Given the description of an element on the screen output the (x, y) to click on. 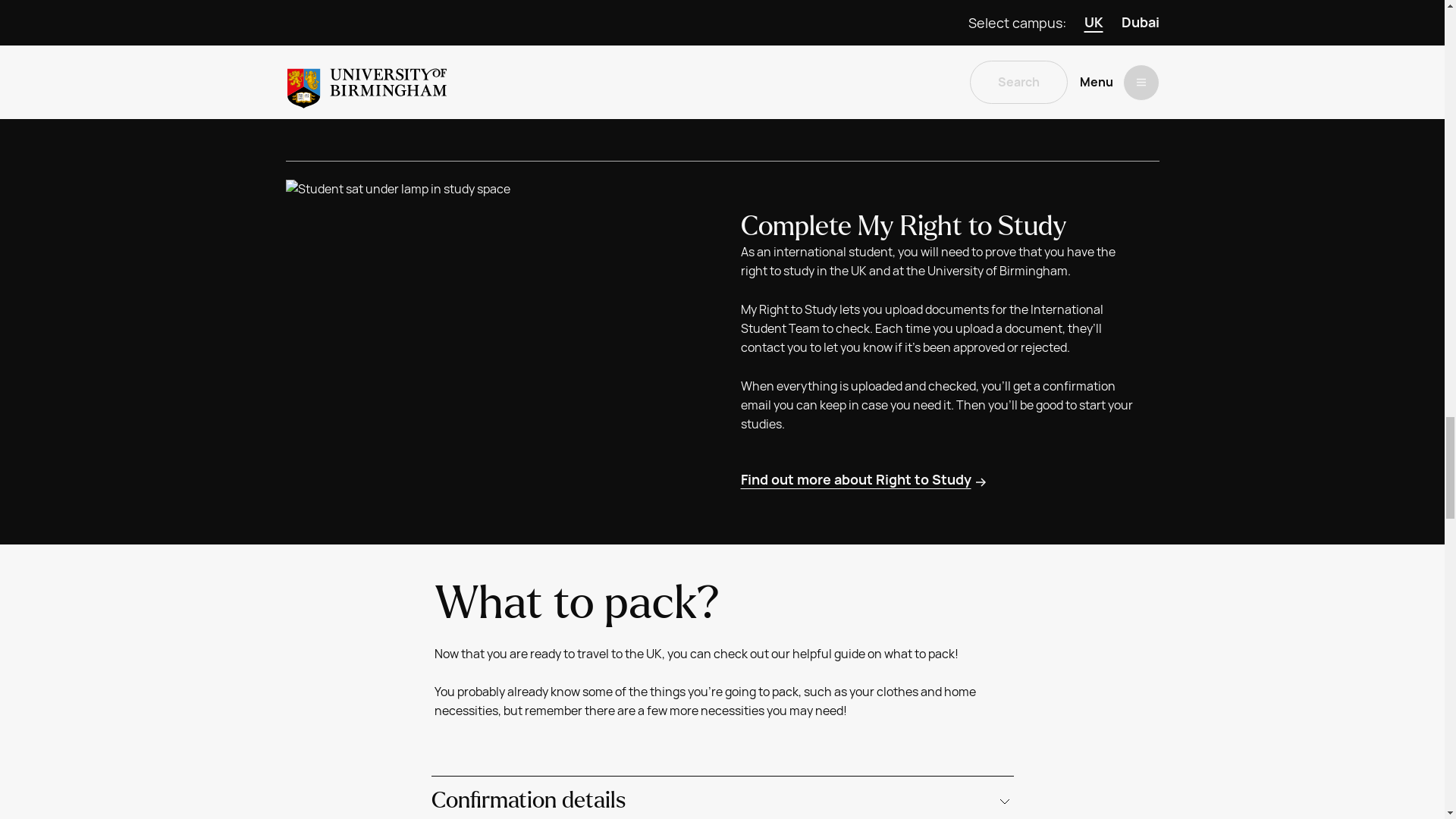
Find out more about Right to Study (863, 479)
Complete my online registration (855, 59)
